Given the description of an element on the screen output the (x, y) to click on. 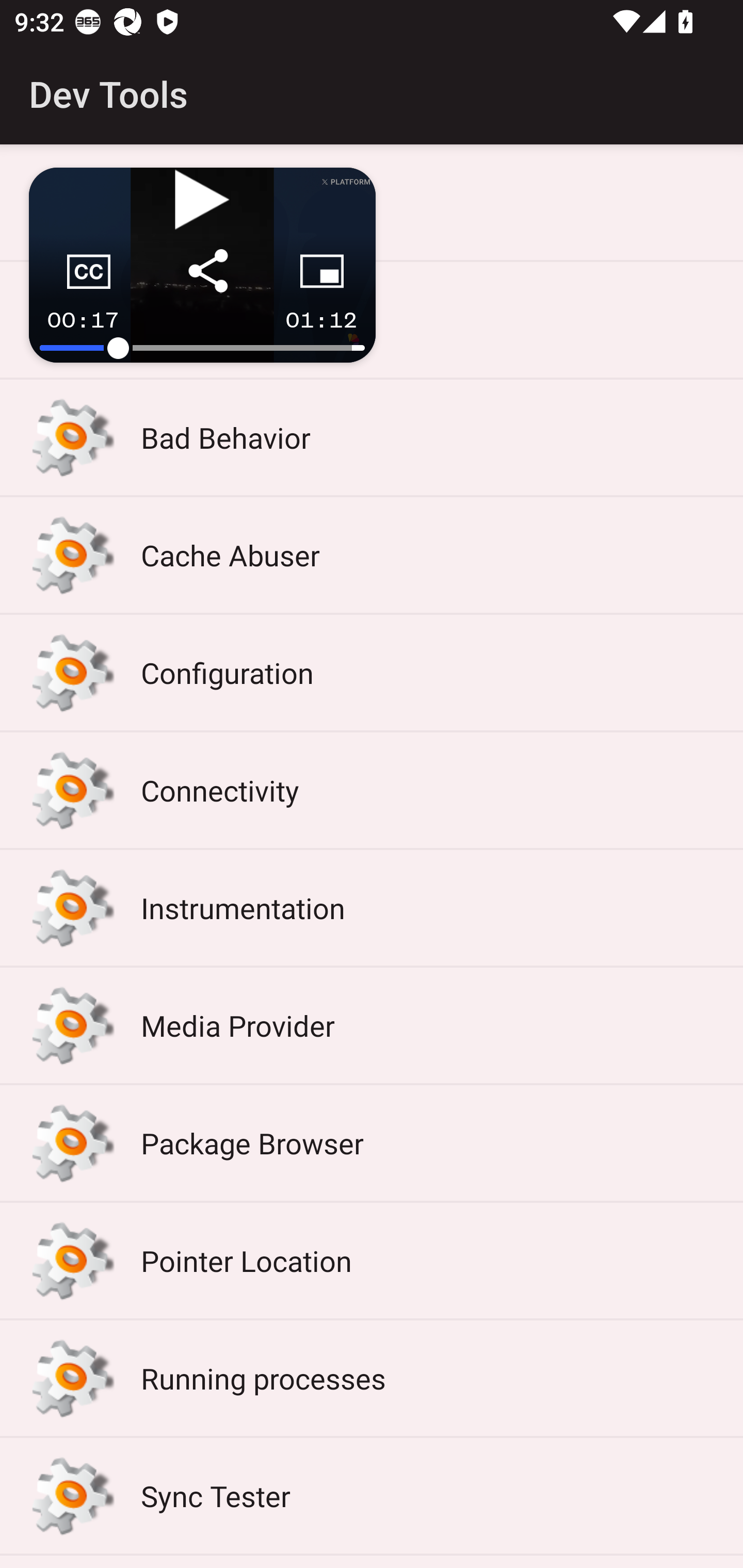
Bad Behavior (371, 437)
Cache Abuser (371, 555)
Configuration (371, 672)
Connectivity (371, 790)
Instrumentation (371, 907)
Media Provider (371, 1025)
Package Browser (371, 1143)
Pointer Location (371, 1260)
Running processes (371, 1378)
Sync Tester (371, 1495)
